Given the description of an element on the screen output the (x, y) to click on. 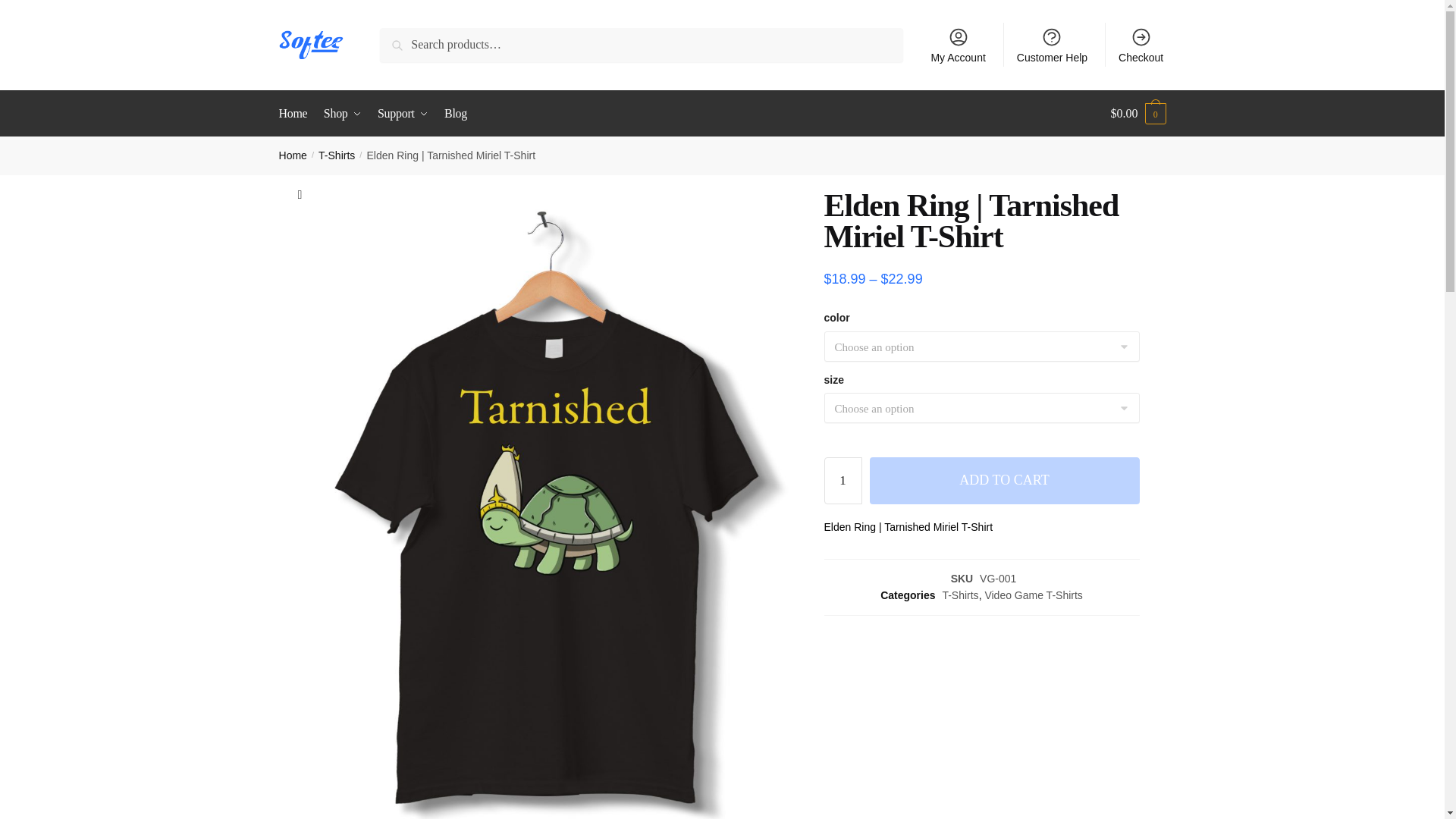
Home (293, 155)
T-Shirts (336, 155)
Checkout (1141, 44)
Customer Help (1052, 44)
View your shopping cart (1137, 113)
Shop (342, 113)
Support (402, 113)
SEARCH (433, 50)
My Account (957, 44)
